Given the description of an element on the screen output the (x, y) to click on. 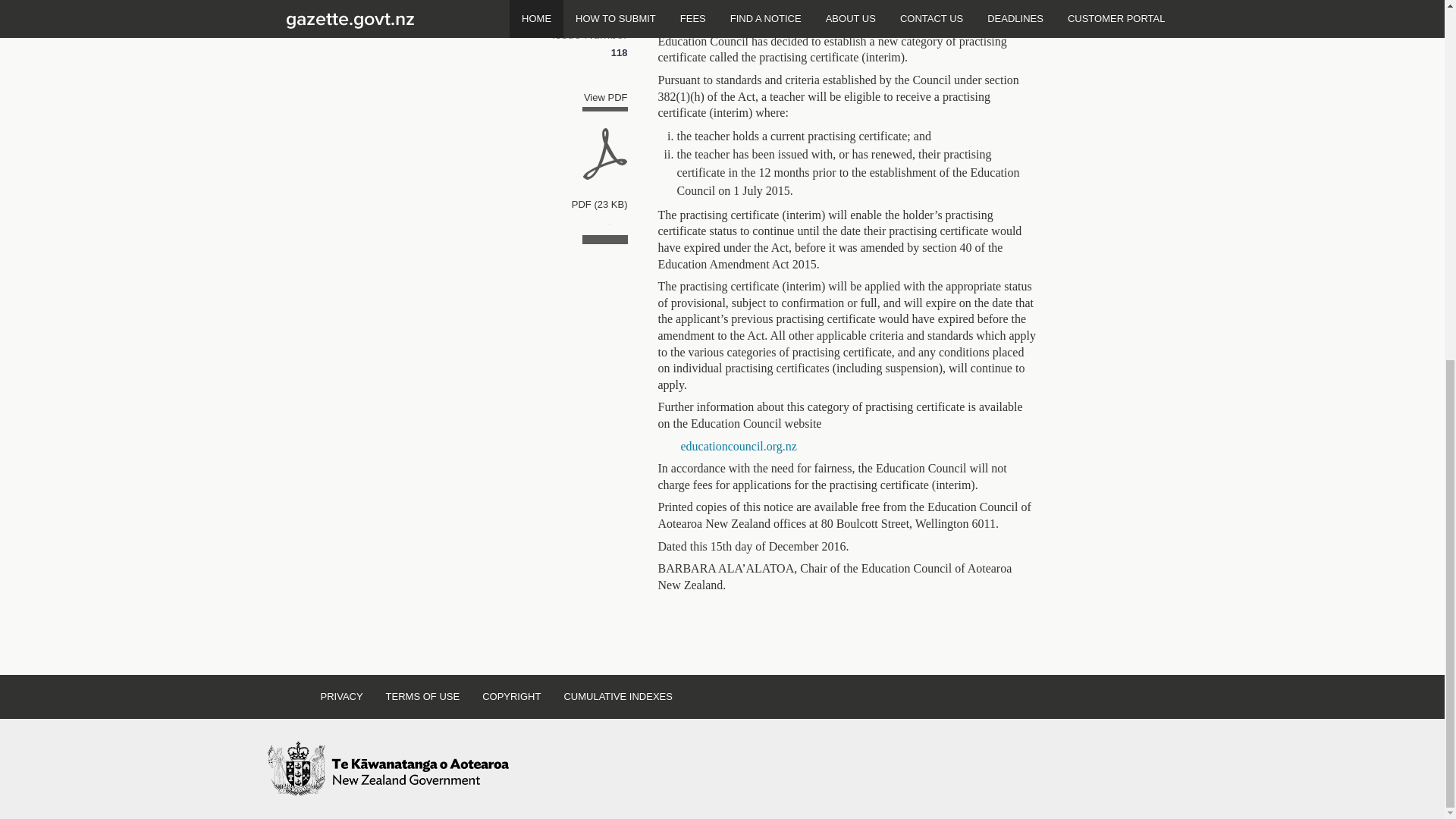
TERMS OF USE (422, 696)
COPYRIGHT (510, 696)
educationcouncil.org.nz (738, 445)
PRIVACY (341, 696)
CUMULATIVE INDEXES (617, 696)
